Given the description of an element on the screen output the (x, y) to click on. 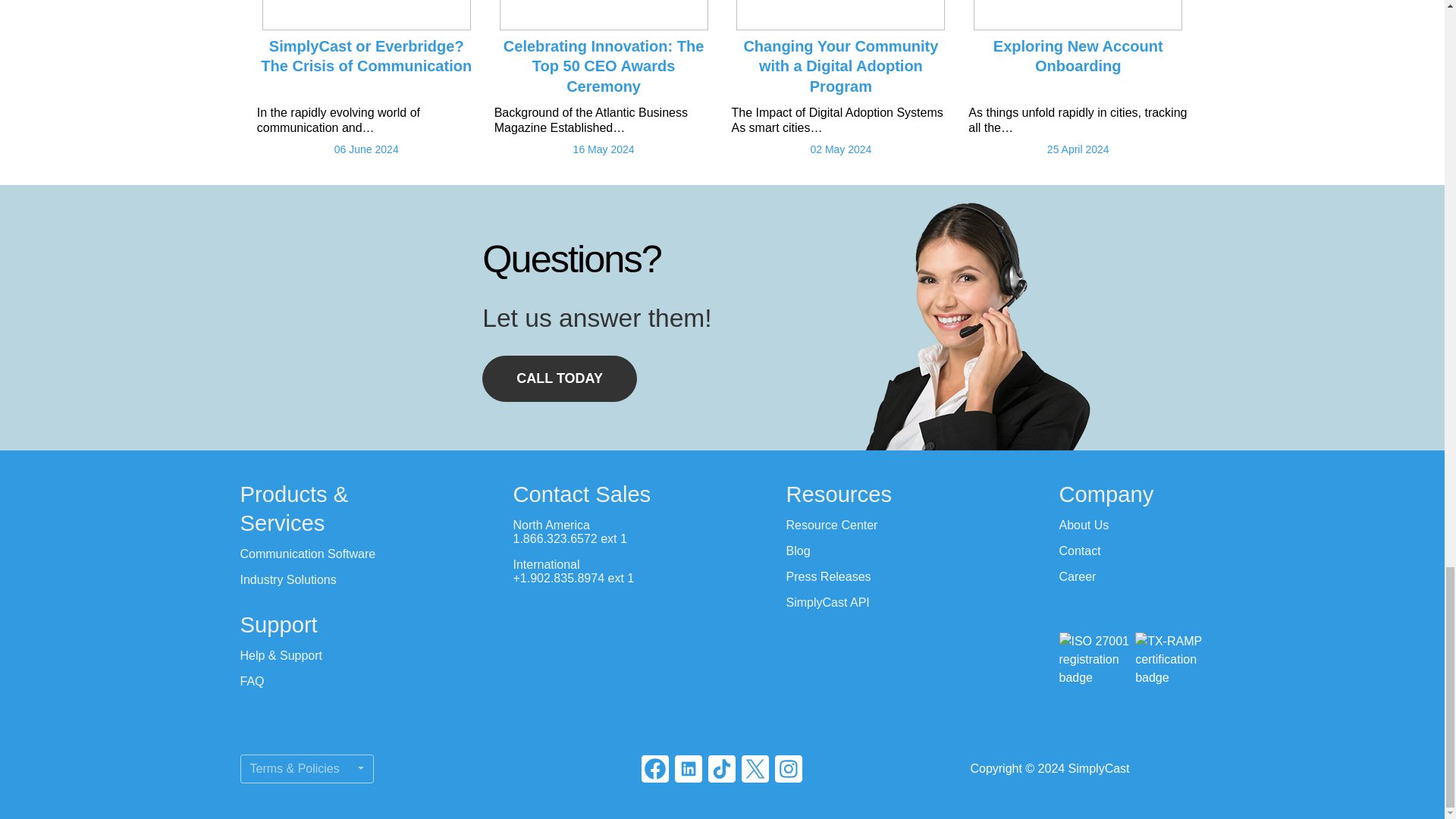
SimplyCast on TikTok (721, 768)
SimplyCast on Twitter (754, 768)
SimplyCast on Instagram (788, 768)
SimplyCast on LinkedIn (688, 768)
SimplyCast on Facebook (655, 768)
